Given the description of an element on the screen output the (x, y) to click on. 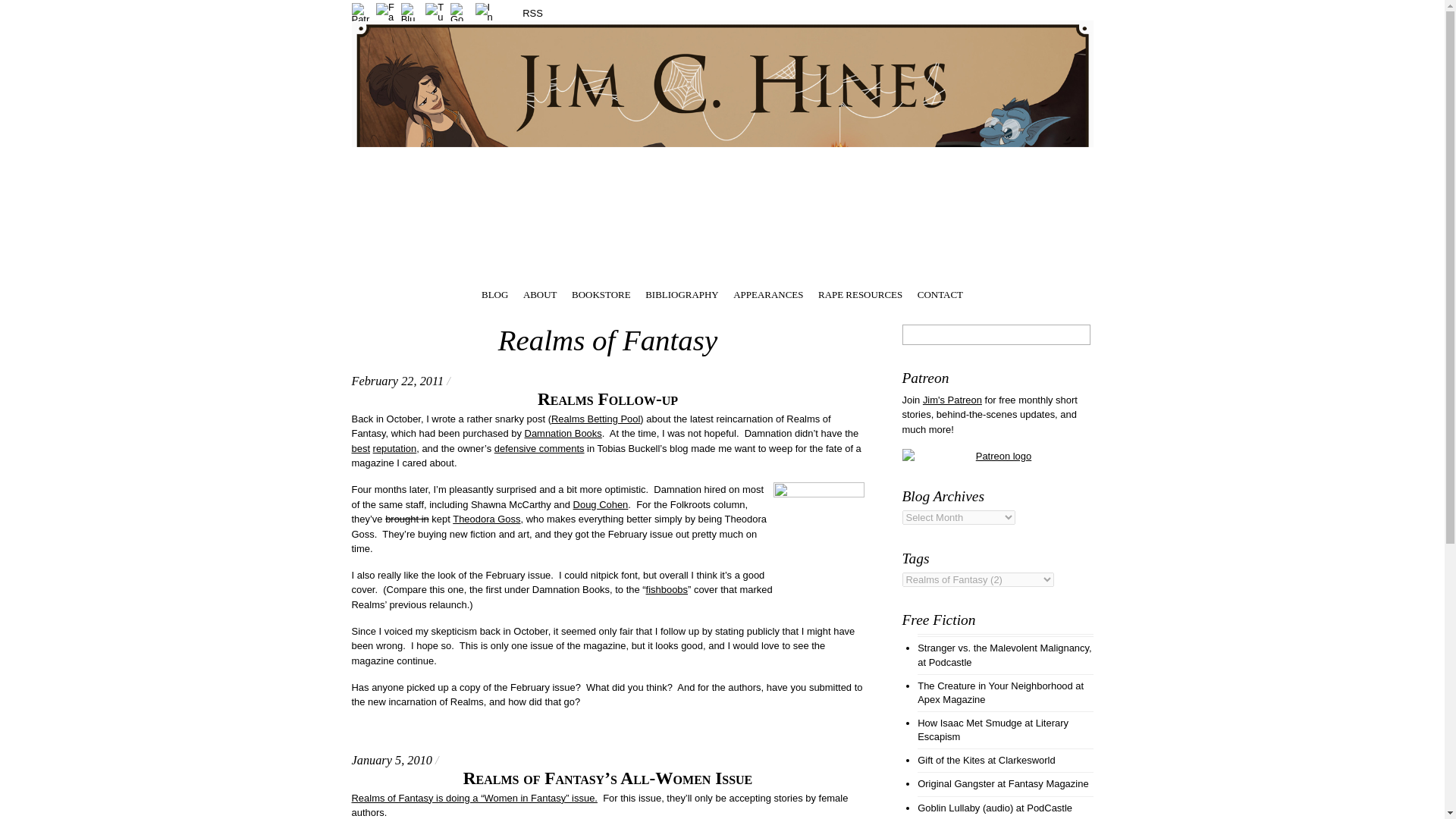
fishboobs (666, 589)
Realms Betting Pool (595, 419)
Stranger vs. the Malevolent Malignancy (1003, 647)
Theodora Goss (485, 518)
The Creature in Your Neighborhood (995, 685)
Jim's Patreon (952, 399)
Damnation Books (563, 432)
Original Gangster (955, 783)
BIBLIOGRAPHY (681, 292)
defensive comments (540, 448)
